Given the description of an element on the screen output the (x, y) to click on. 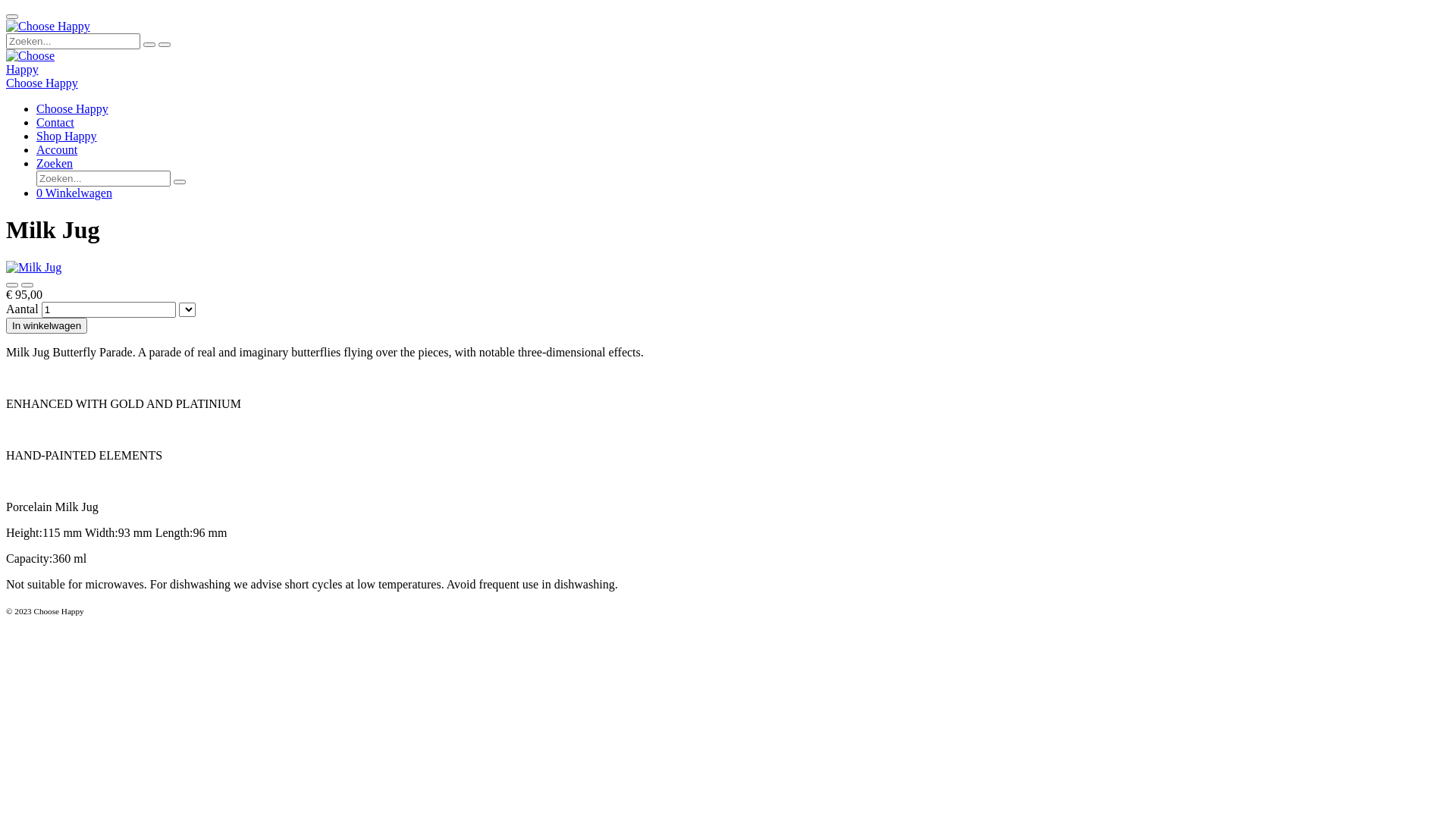
Choose Happy Element type: text (42, 82)
In winkelwagen Element type: text (46, 325)
Choose Happy Element type: hover (39, 62)
ENHANCED WITH GOLD AND PLATINIUM Element type: text (123, 403)
HAND-PAINTED ELEMENTS Element type: text (84, 454)
Shop Happy Element type: text (66, 135)
Choose Happy Element type: text (72, 108)
Contact Element type: text (55, 122)
Zoeken Element type: text (54, 162)
0 Winkelwagen Element type: text (74, 192)
Account Element type: text (56, 149)
Choose Happy Element type: hover (48, 26)
